Given the description of an element on the screen output the (x, y) to click on. 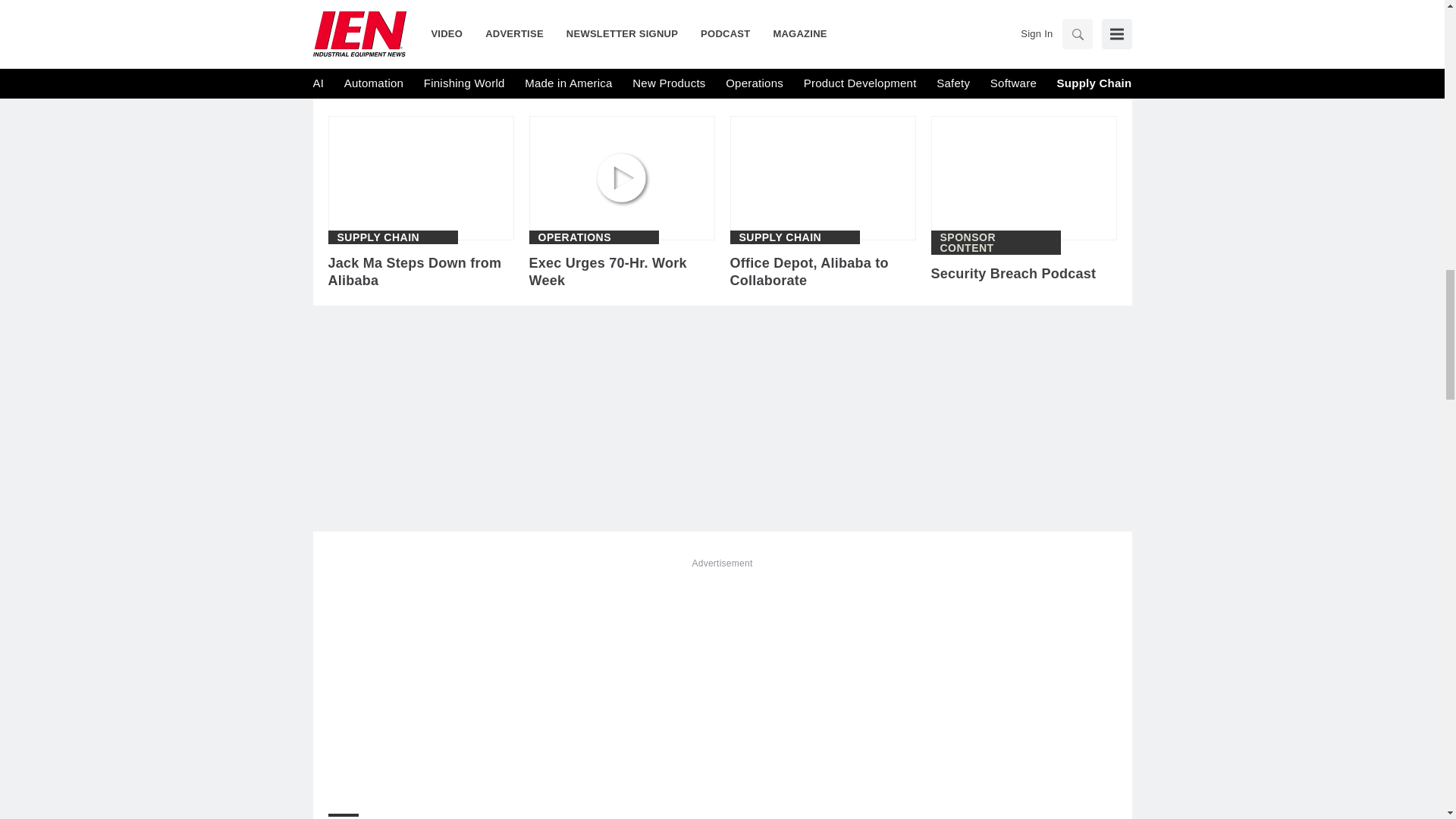
Supply Chain (377, 236)
Supply Chain (779, 236)
Sponsor Content (996, 242)
Operations (574, 236)
